Given the description of an element on the screen output the (x, y) to click on. 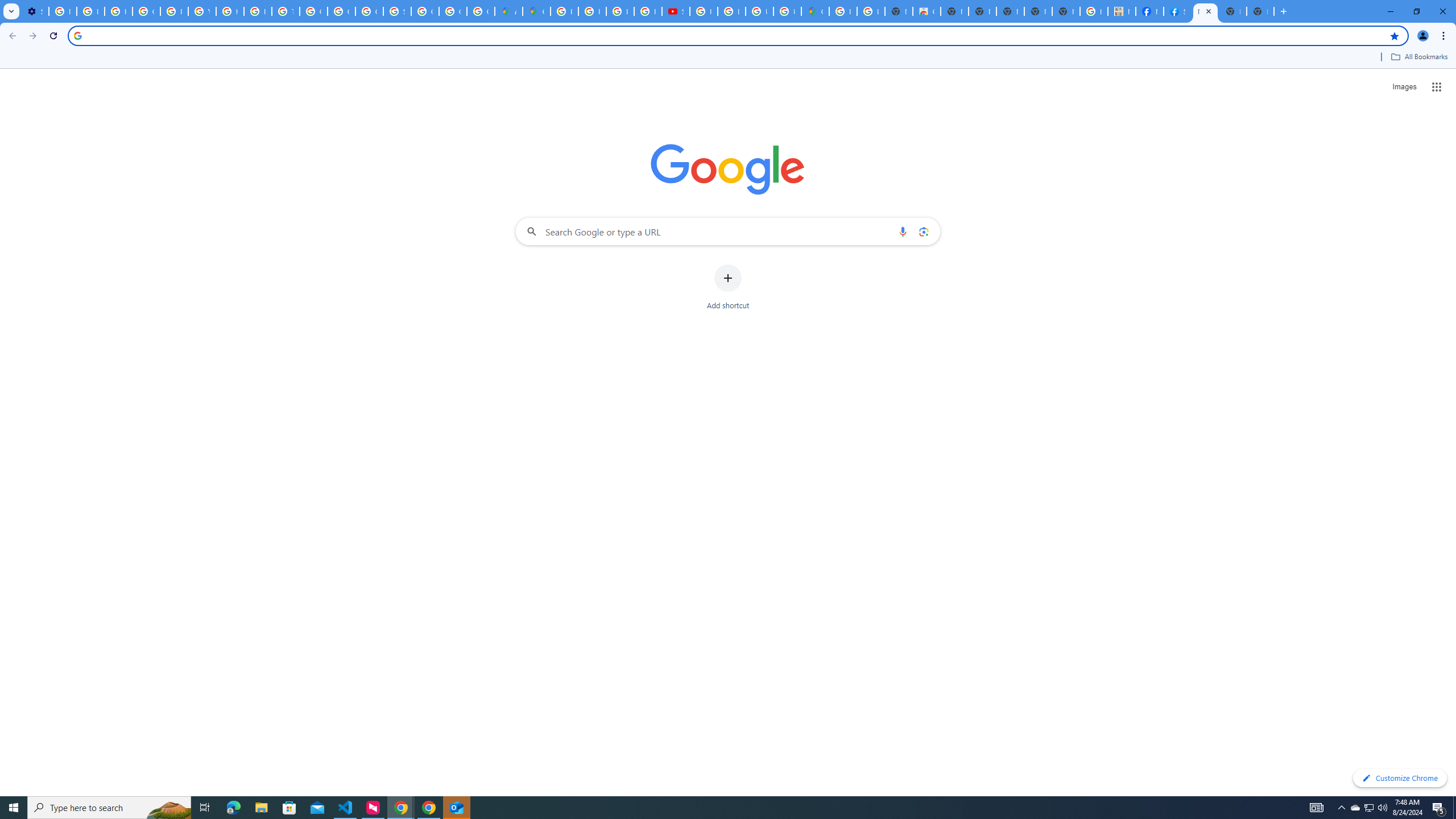
Miley Cyrus | Facebook (1150, 11)
